Given the description of an element on the screen output the (x, y) to click on. 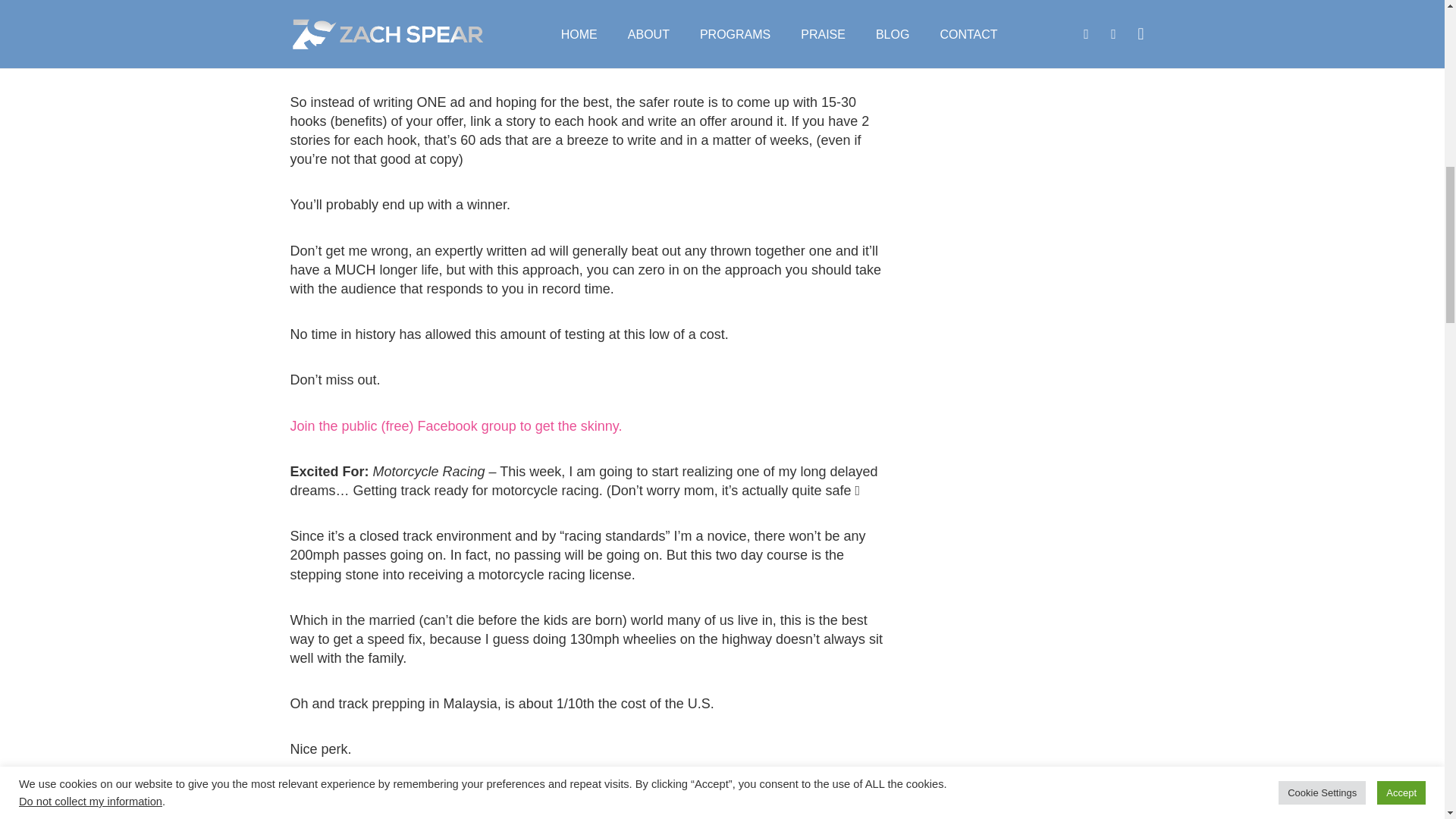
Back to top (1413, 22)
